Given the description of an element on the screen output the (x, y) to click on. 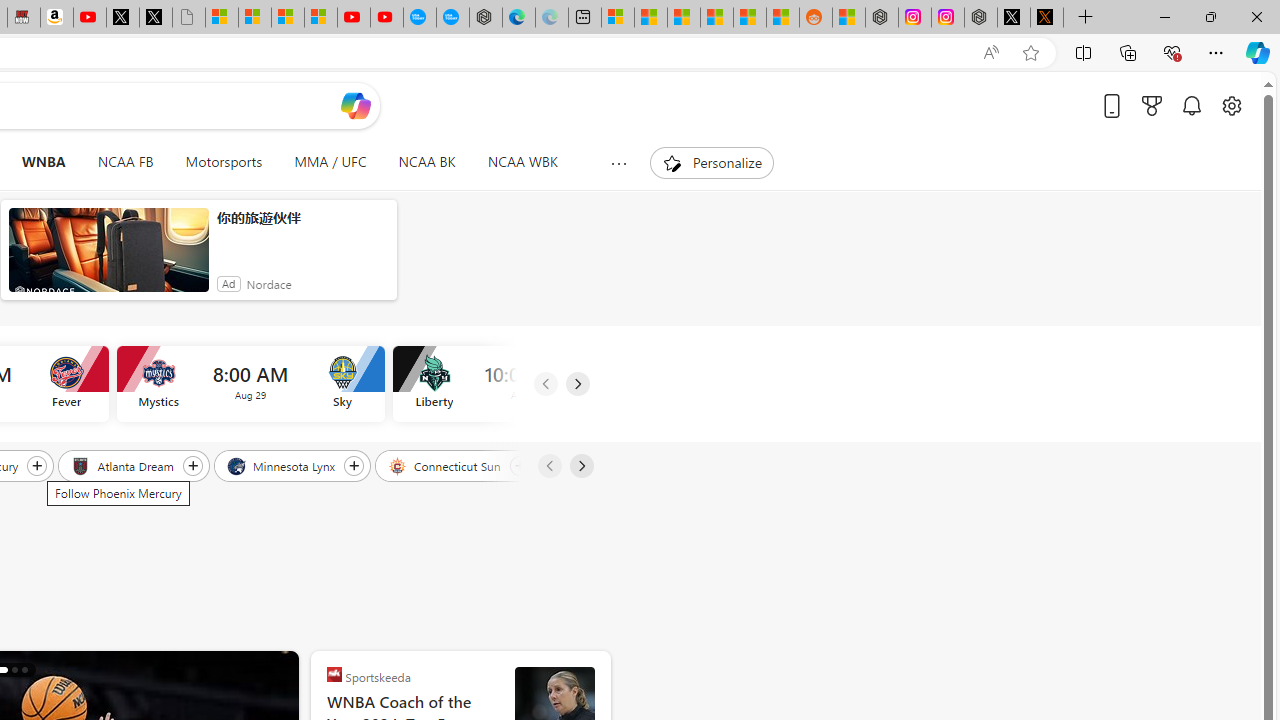
Shanghai, China hourly forecast | Microsoft Weather (684, 17)
Previous (548, 465)
NCAA WBK (522, 162)
Untitled (188, 17)
NCAA BK (426, 162)
Motorsports (223, 162)
Day 1: Arriving in Yemen (surreal to be here) - YouTube (90, 17)
Personalize (711, 162)
YouTube Kids - An App Created for Kids to Explore Content (387, 17)
MMA / UFC (329, 162)
Nordace (@NordaceOfficial) / X (1014, 17)
